Given the description of an element on the screen output the (x, y) to click on. 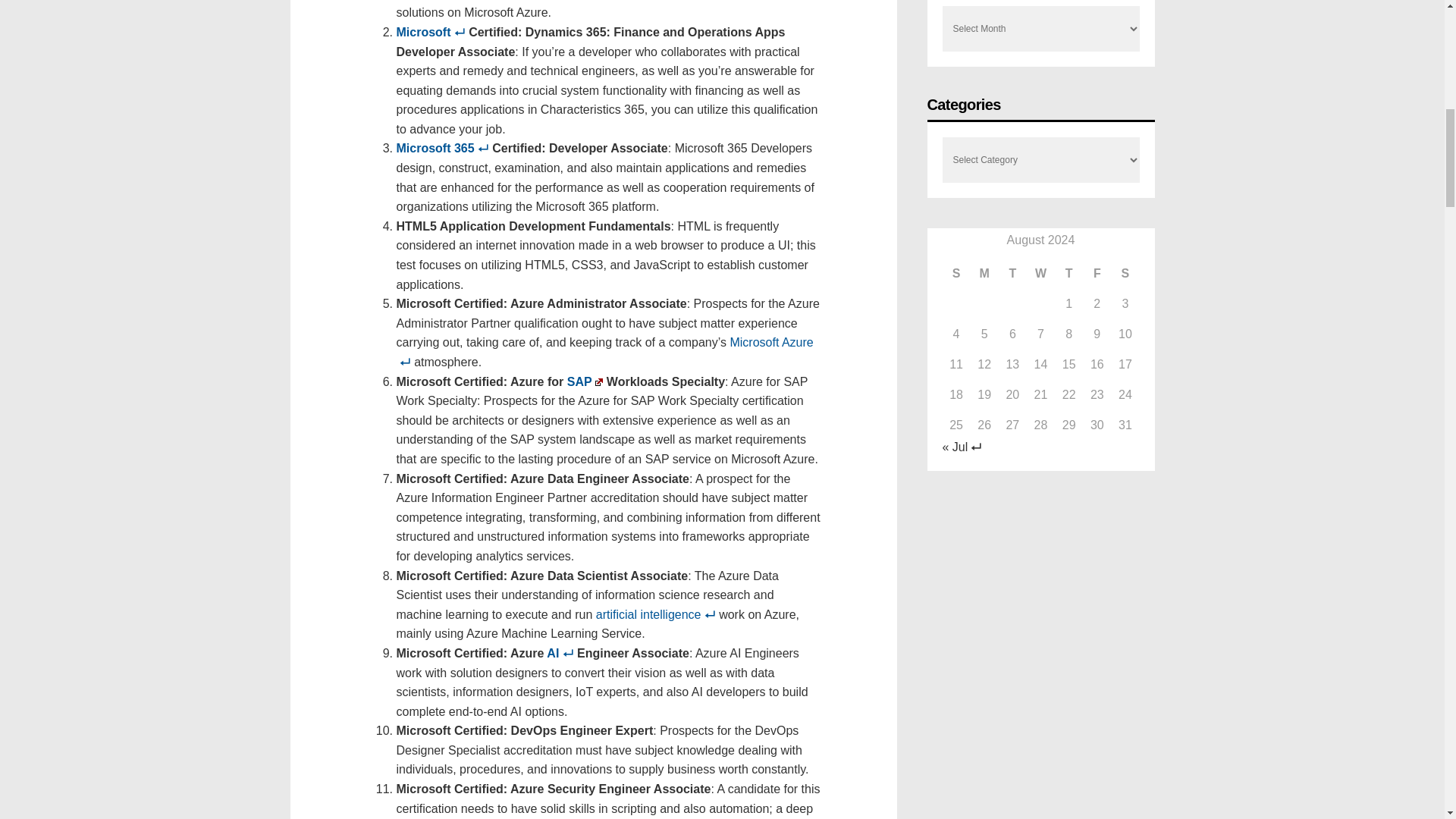
Saturday (1124, 273)
Sunday (955, 273)
Monday (984, 273)
Thursday (1068, 273)
Friday (1096, 273)
Wednesday (1040, 273)
Tuesday (1012, 273)
